Given the description of an element on the screen output the (x, y) to click on. 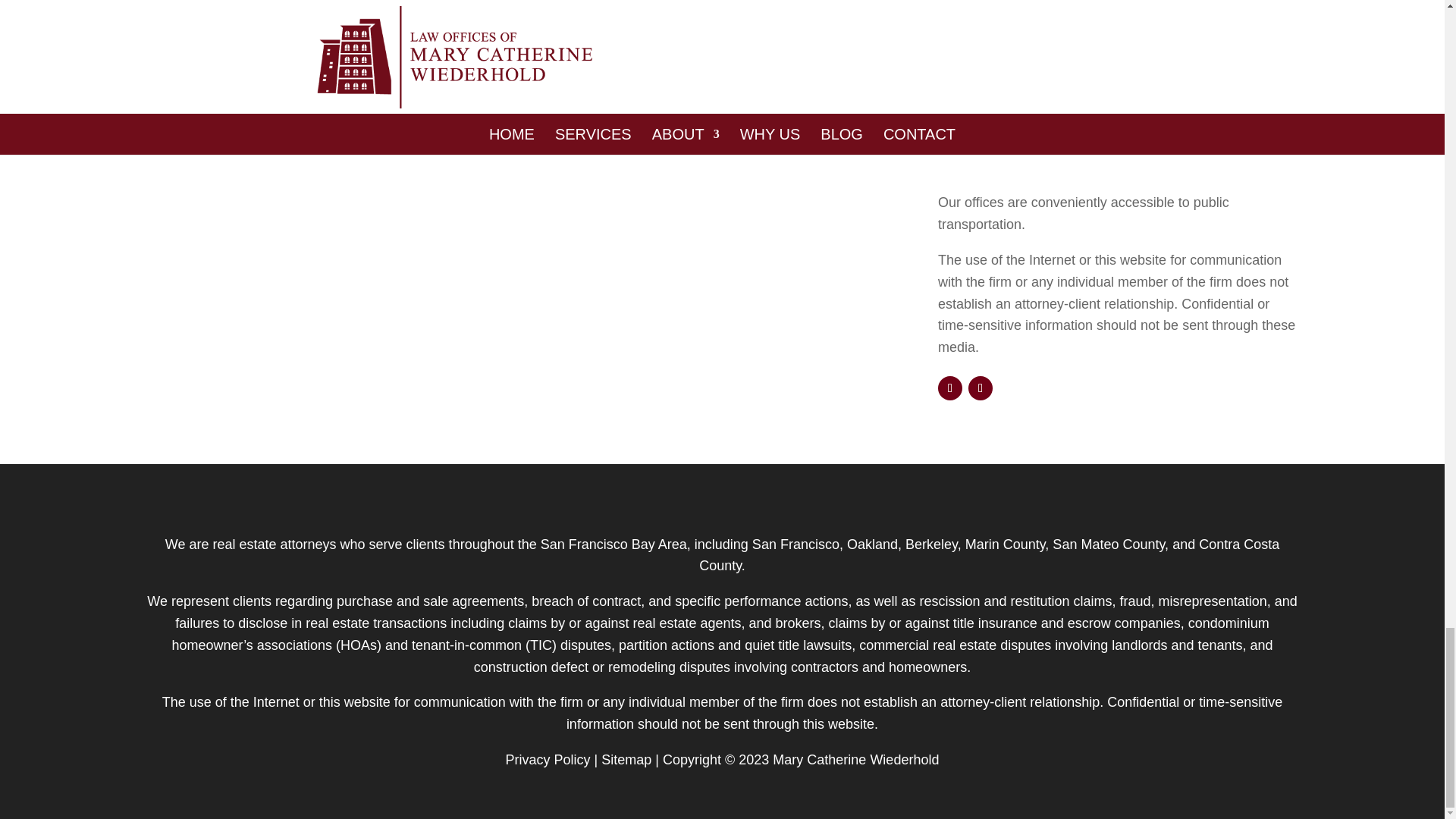
Courtney Brown (1005, 71)
Contact Us (208, 122)
Follow on LinkedIn (980, 387)
Follow on Facebook (949, 387)
Sitemap (625, 759)
Privacy Policy (548, 759)
Contact Us (208, 122)
